Given the description of an element on the screen output the (x, y) to click on. 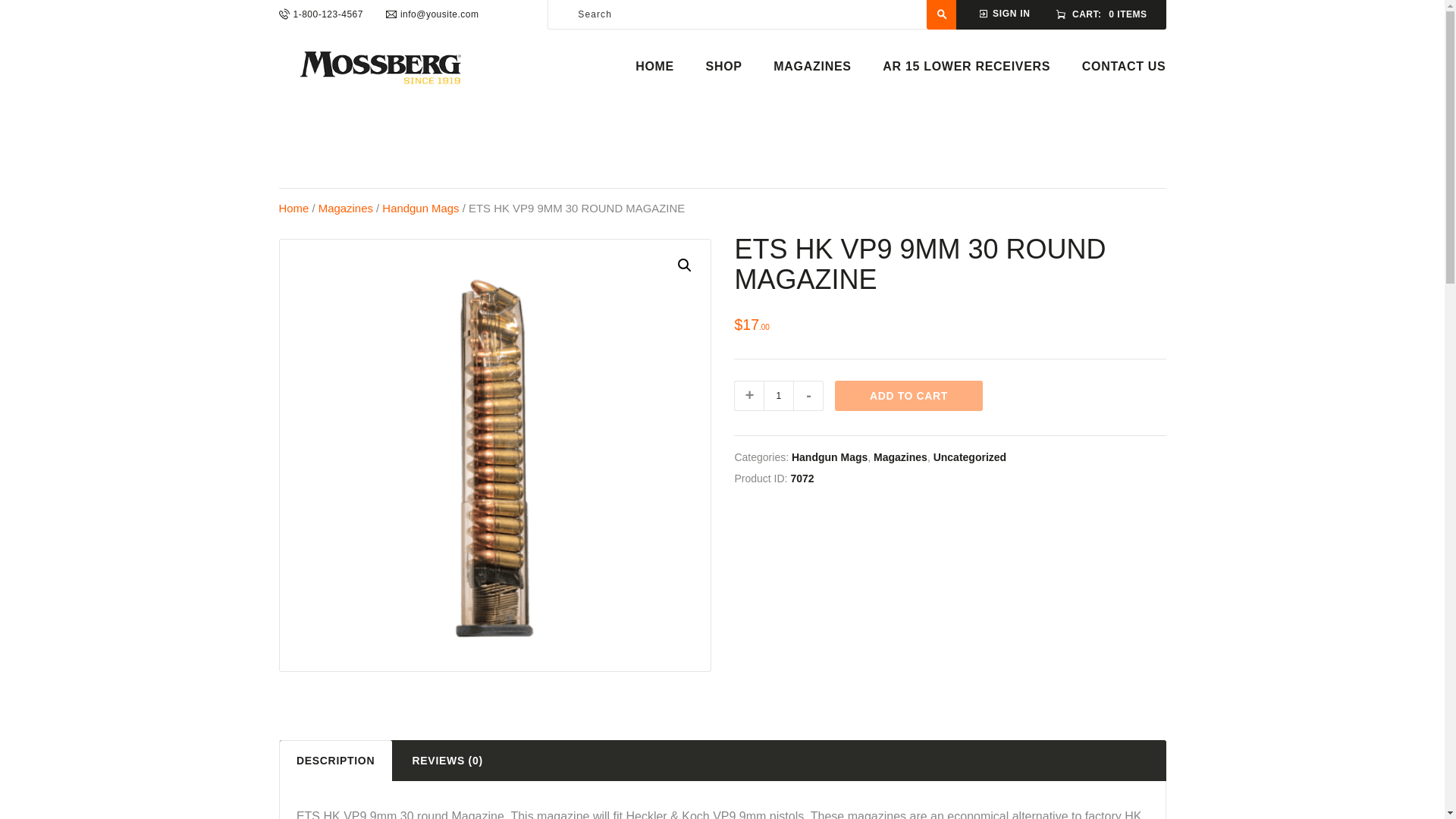
Home (293, 207)
1-800-123-4567 (320, 13)
Magazines (345, 207)
ADD TO CART (908, 395)
SIGN IN (1004, 12)
HOME (654, 66)
1 (777, 395)
AR 15 LOWER RECEIVERS (965, 66)
SHOP (724, 66)
